Given the description of an element on the screen output the (x, y) to click on. 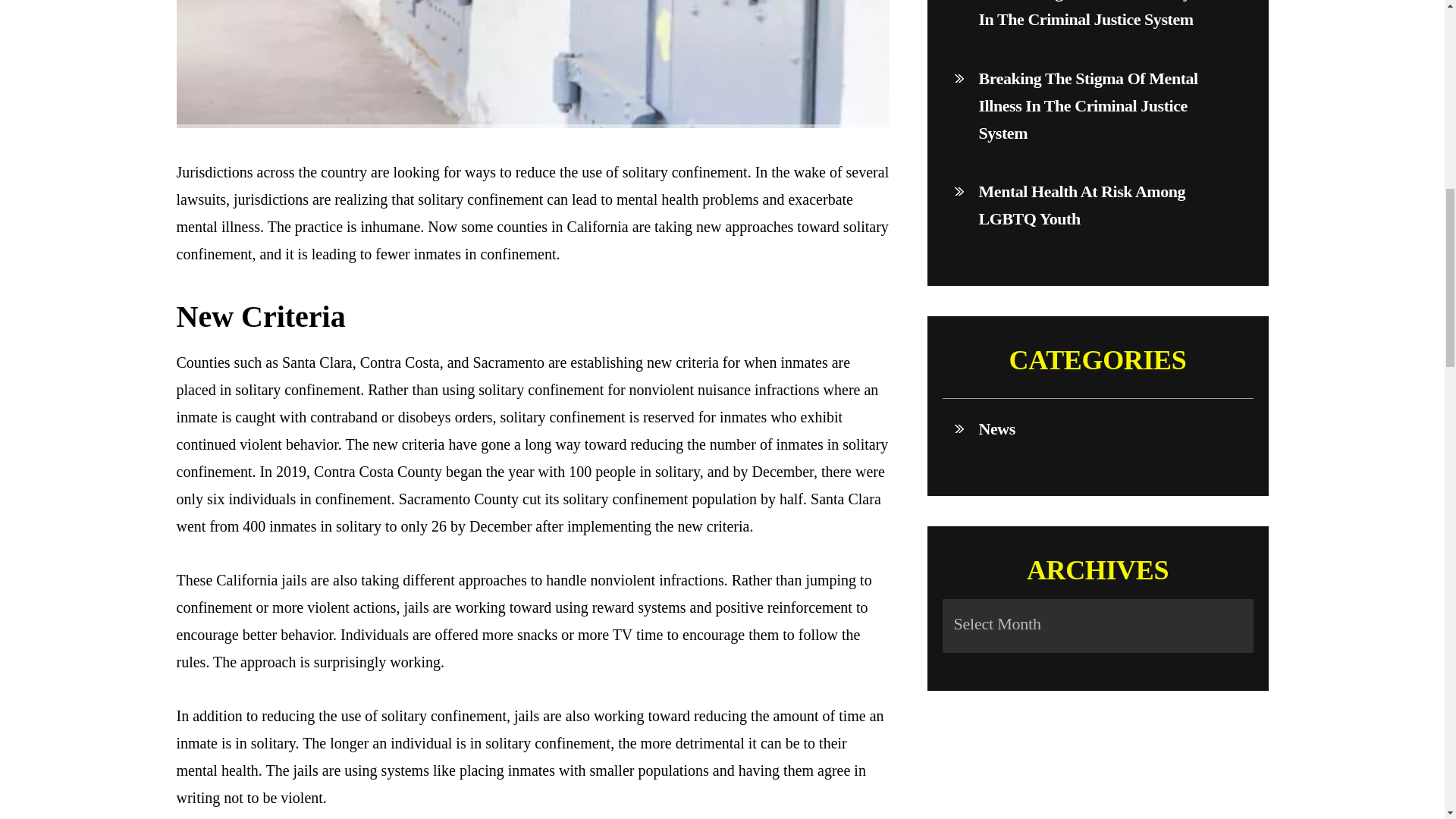
Mental Health At Risk Among LGBTQ Youth (1097, 204)
News (1097, 427)
